Given the description of an element on the screen output the (x, y) to click on. 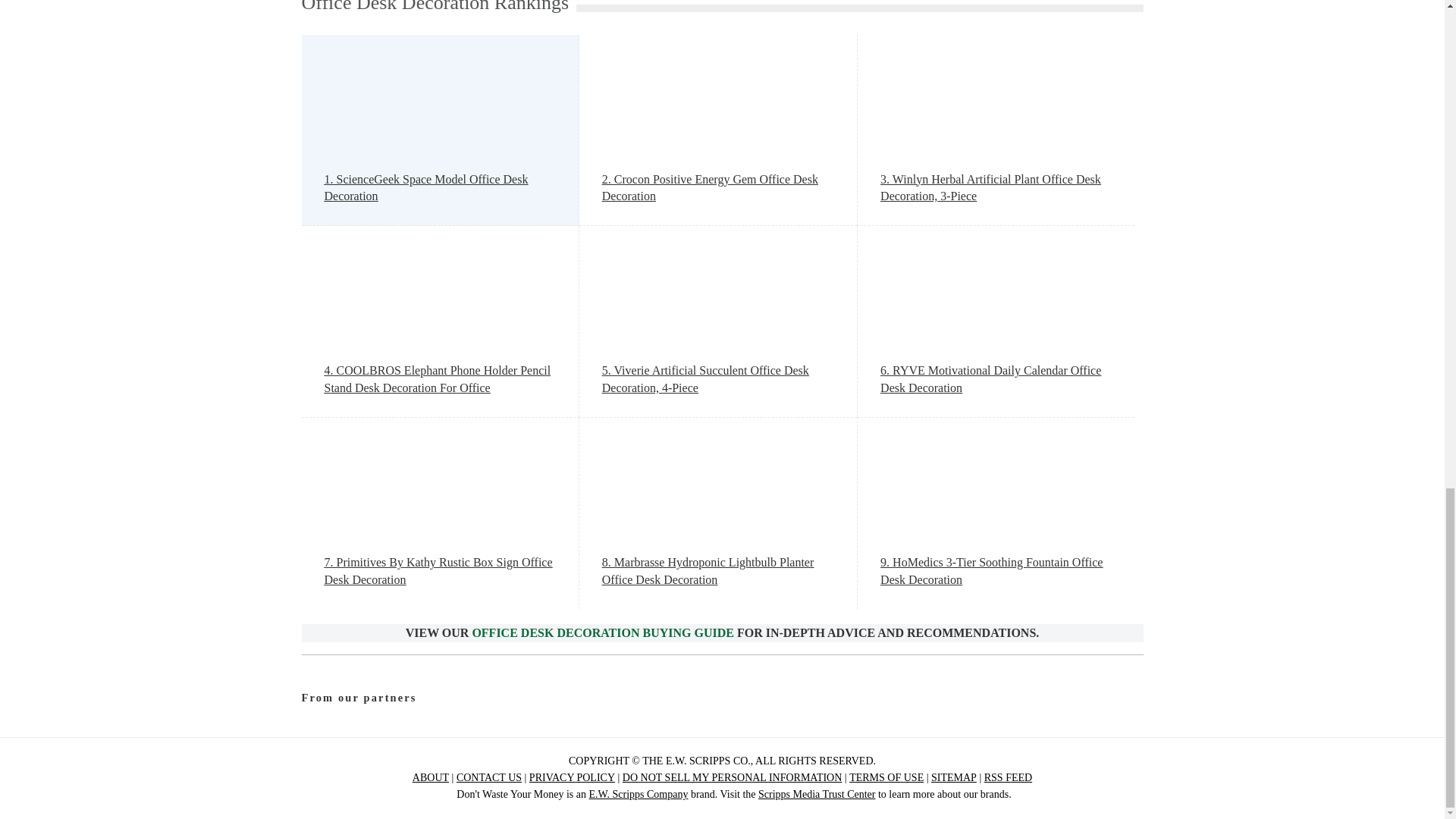
1. ScienceGeek Space Model Office Desk Decoration (440, 188)
2. Crocon Positive Energy Gem Office Desk Decoration (718, 188)
